Given the description of an element on the screen output the (x, y) to click on. 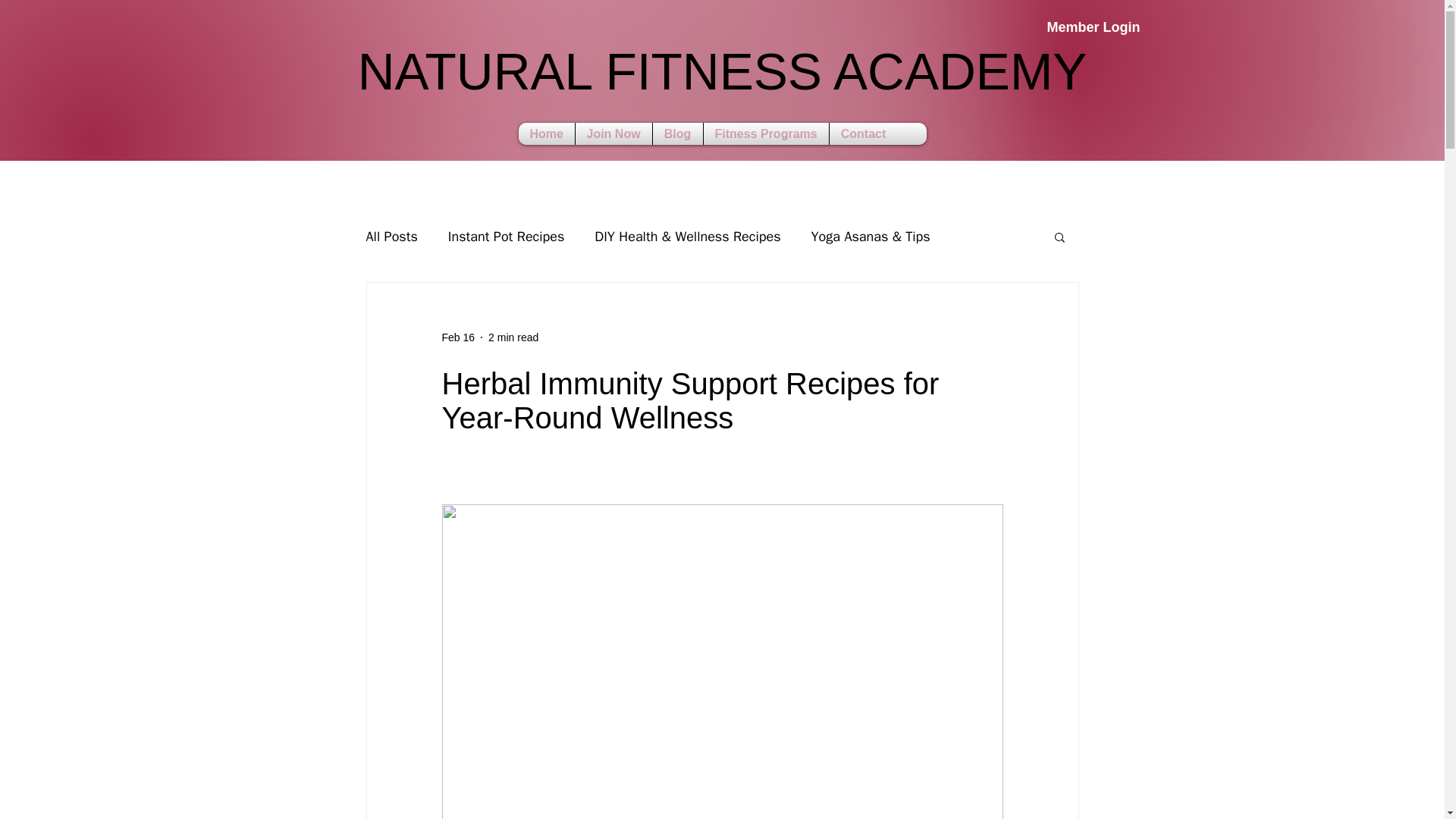
2 min read (721, 80)
Member Login (512, 336)
Fitness Programs (1064, 28)
Home (765, 133)
Join Now (545, 133)
All Posts (613, 133)
Blog (390, 236)
Feb 16 (677, 133)
Instant Pot Recipes (457, 336)
Contact (506, 236)
